Given the description of an element on the screen output the (x, y) to click on. 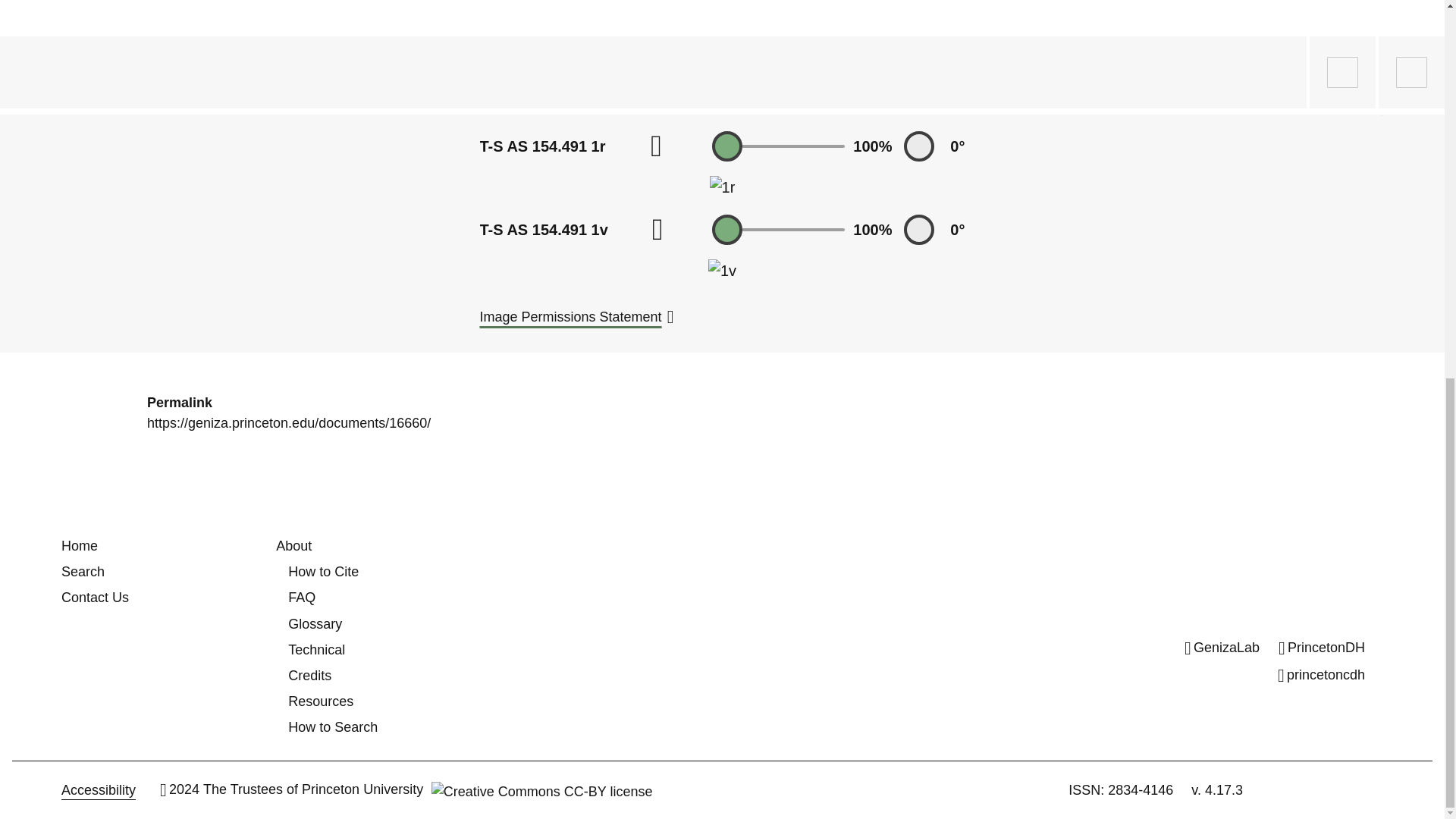
1r (722, 187)
How to Cite (323, 571)
How to Search (332, 726)
1 (777, 229)
1 (777, 146)
princetoncdh (1321, 674)
Credits (309, 675)
FAQ (301, 597)
Search (82, 571)
